Given the description of an element on the screen output the (x, y) to click on. 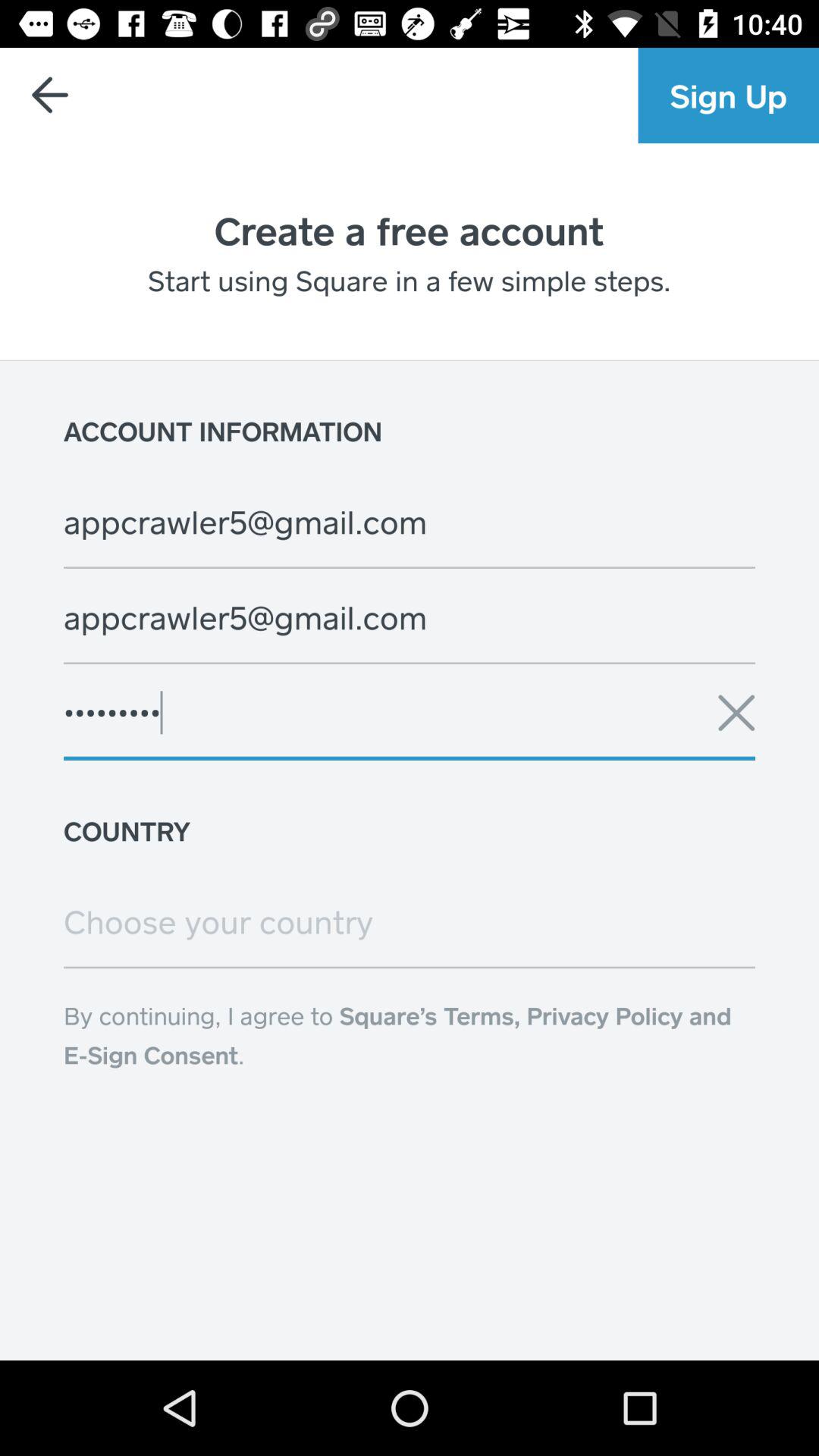
type your country (409, 921)
